Given the description of an element on the screen output the (x, y) to click on. 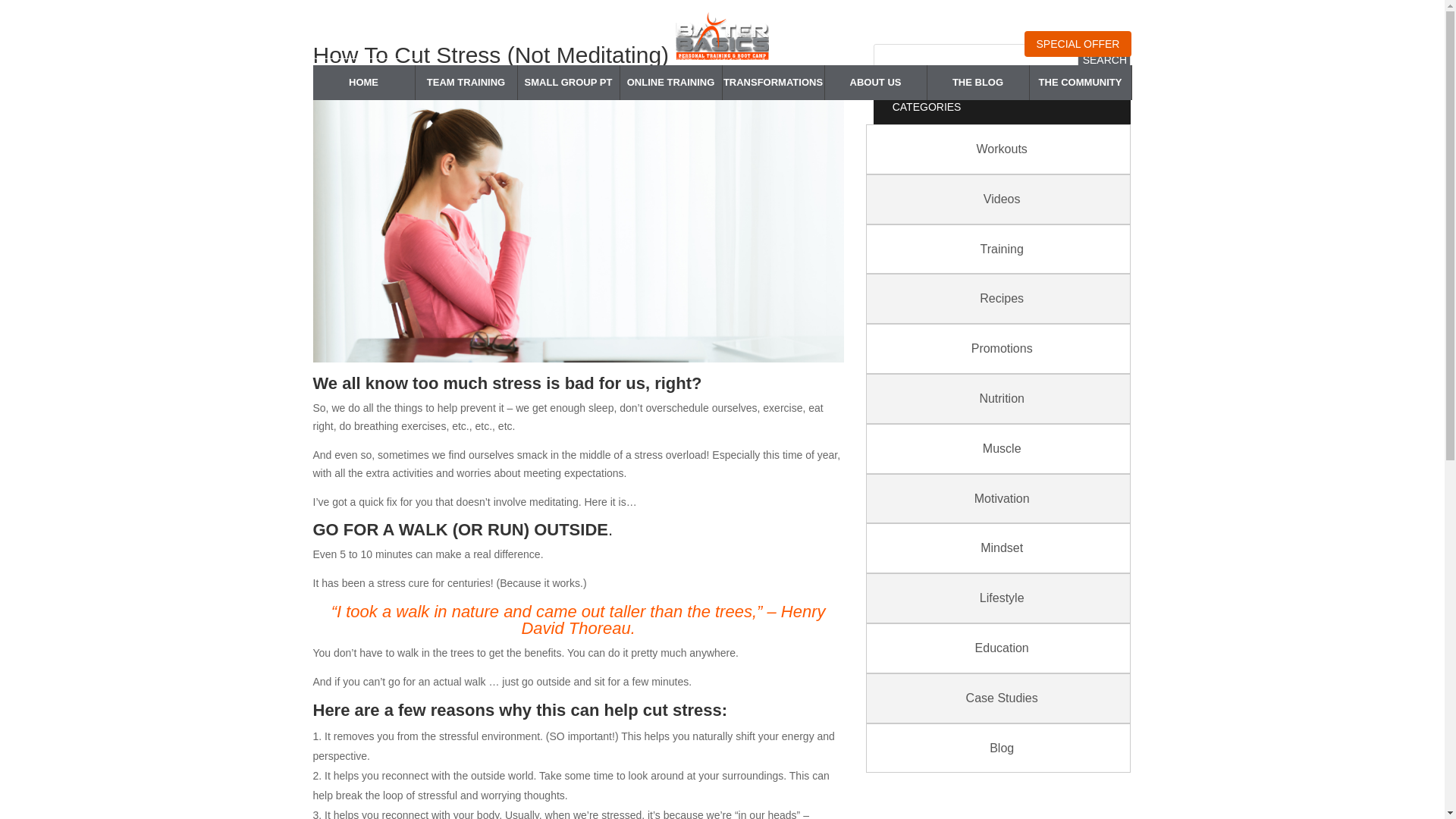
Blog (1002, 748)
HOME (363, 81)
Promotions (1002, 348)
ABOUT US (875, 81)
Case Studies (1002, 698)
Lifestyle (1002, 598)
THE COMMUNITY (1080, 81)
THE BLOG (976, 81)
Training (1002, 249)
Motivation (1002, 499)
